Given the description of an element on the screen output the (x, y) to click on. 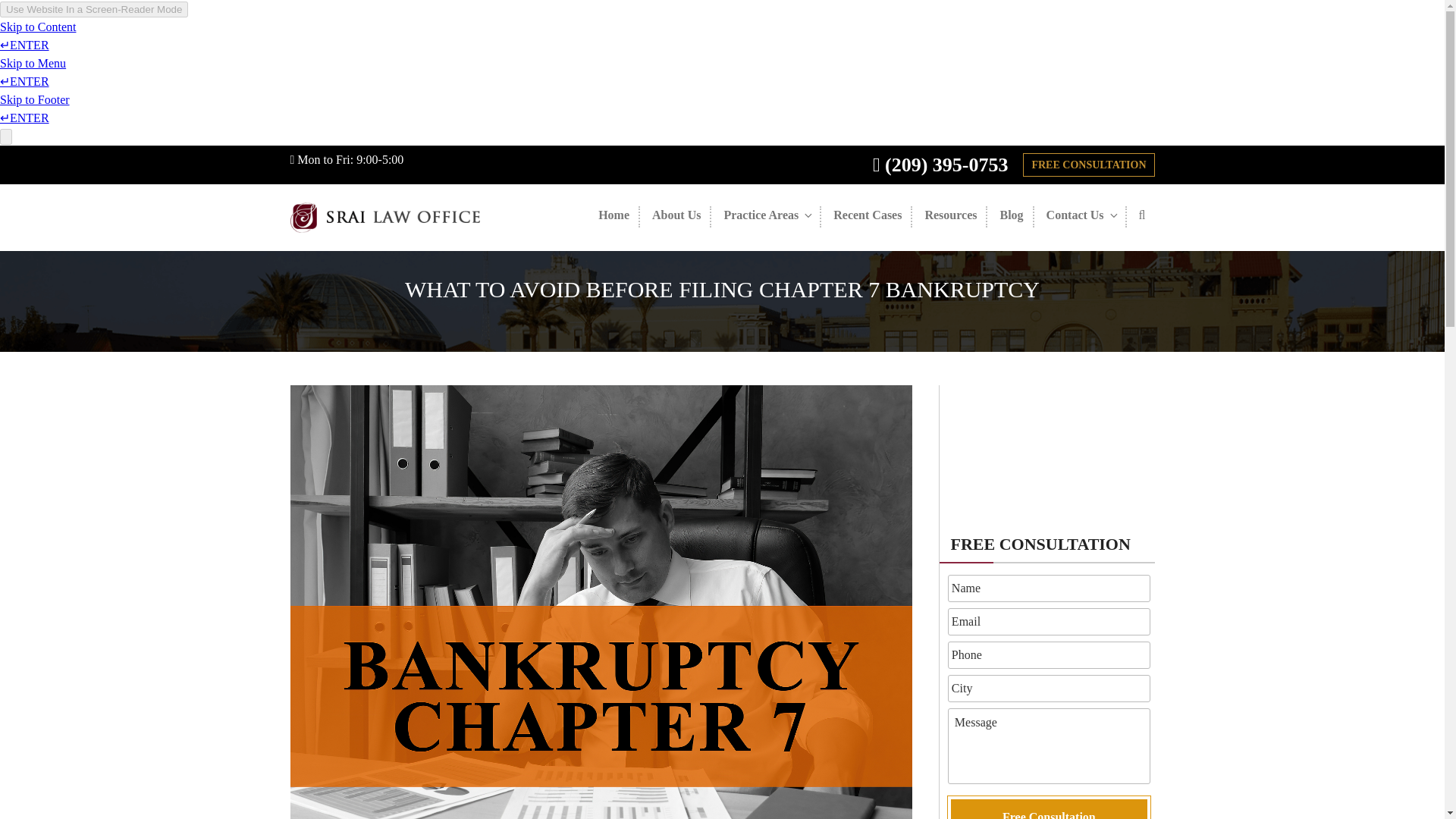
Practice Areas (767, 216)
Home (614, 216)
About Us (677, 216)
FREE CONSULTATION (1088, 164)
Free Consultation (1048, 807)
